Given the description of an element on the screen output the (x, y) to click on. 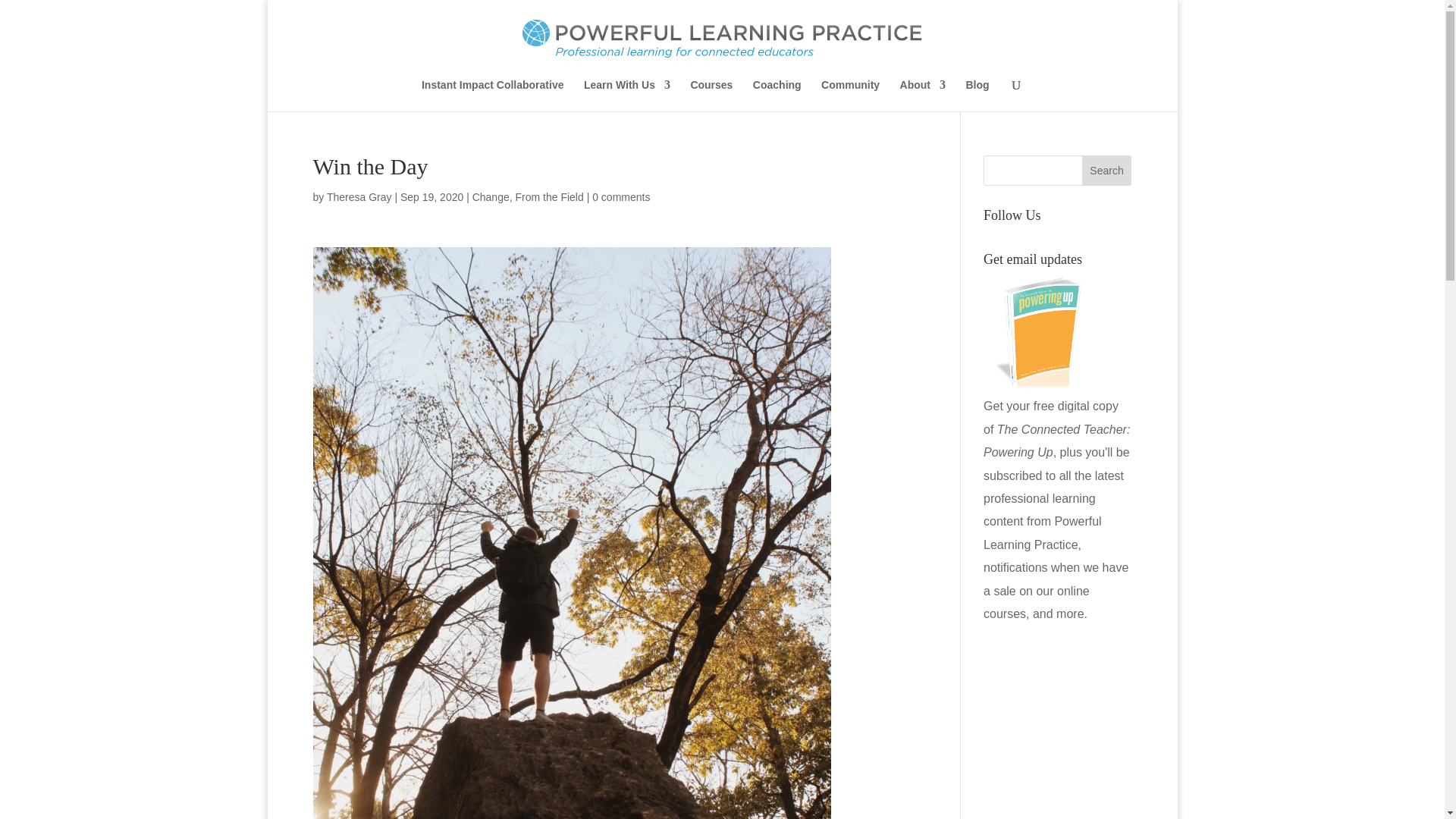
Search (1106, 170)
Search (1106, 170)
Learn With Us (626, 95)
Theresa Gray (358, 196)
Posts by Theresa Gray (358, 196)
Coaching (777, 95)
Change (490, 196)
0 comments (620, 196)
Instant Impact Collaborative (492, 95)
Community (850, 95)
